Given the description of an element on the screen output the (x, y) to click on. 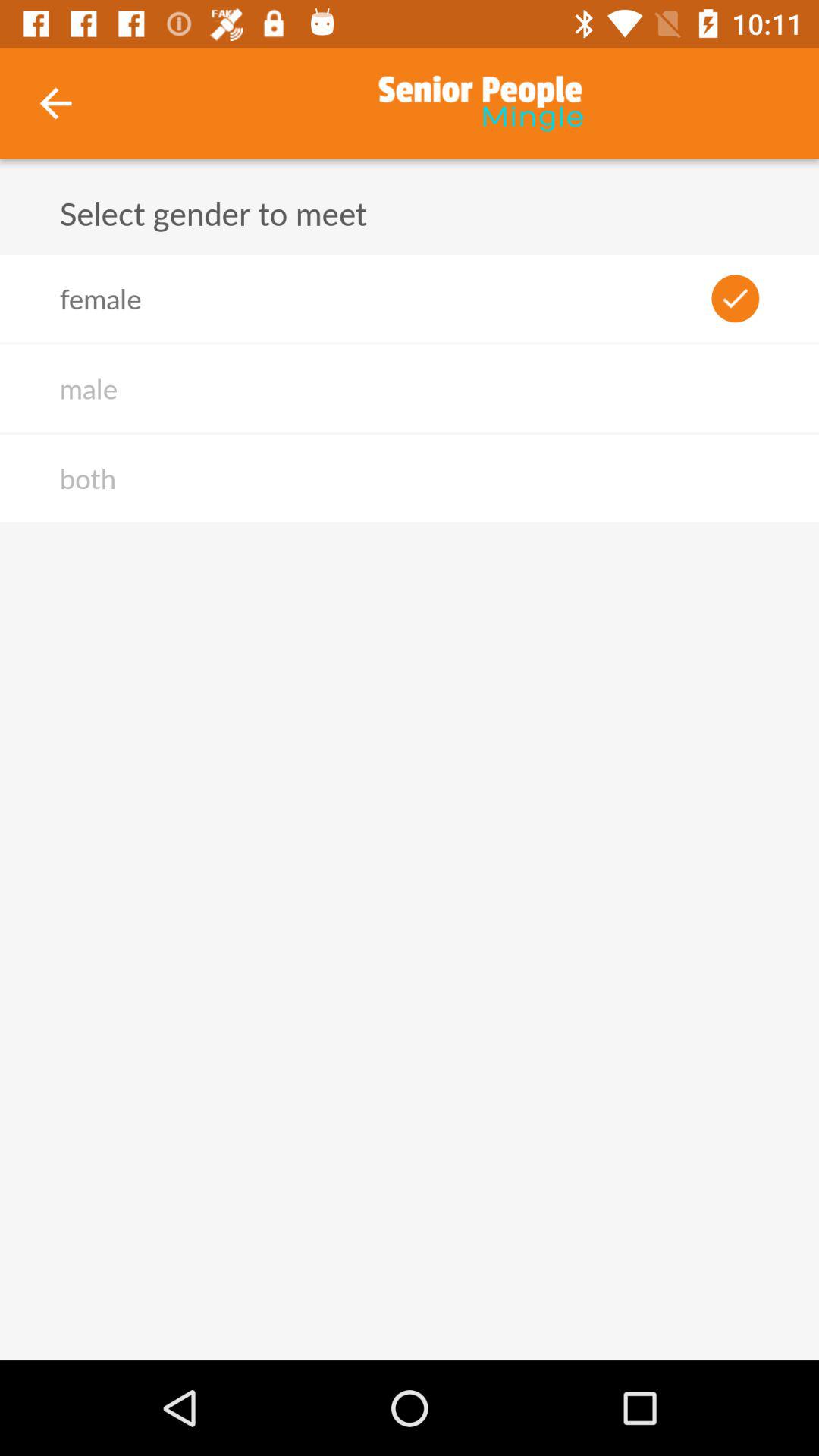
open the item above select gender to item (55, 103)
